Given the description of an element on the screen output the (x, y) to click on. 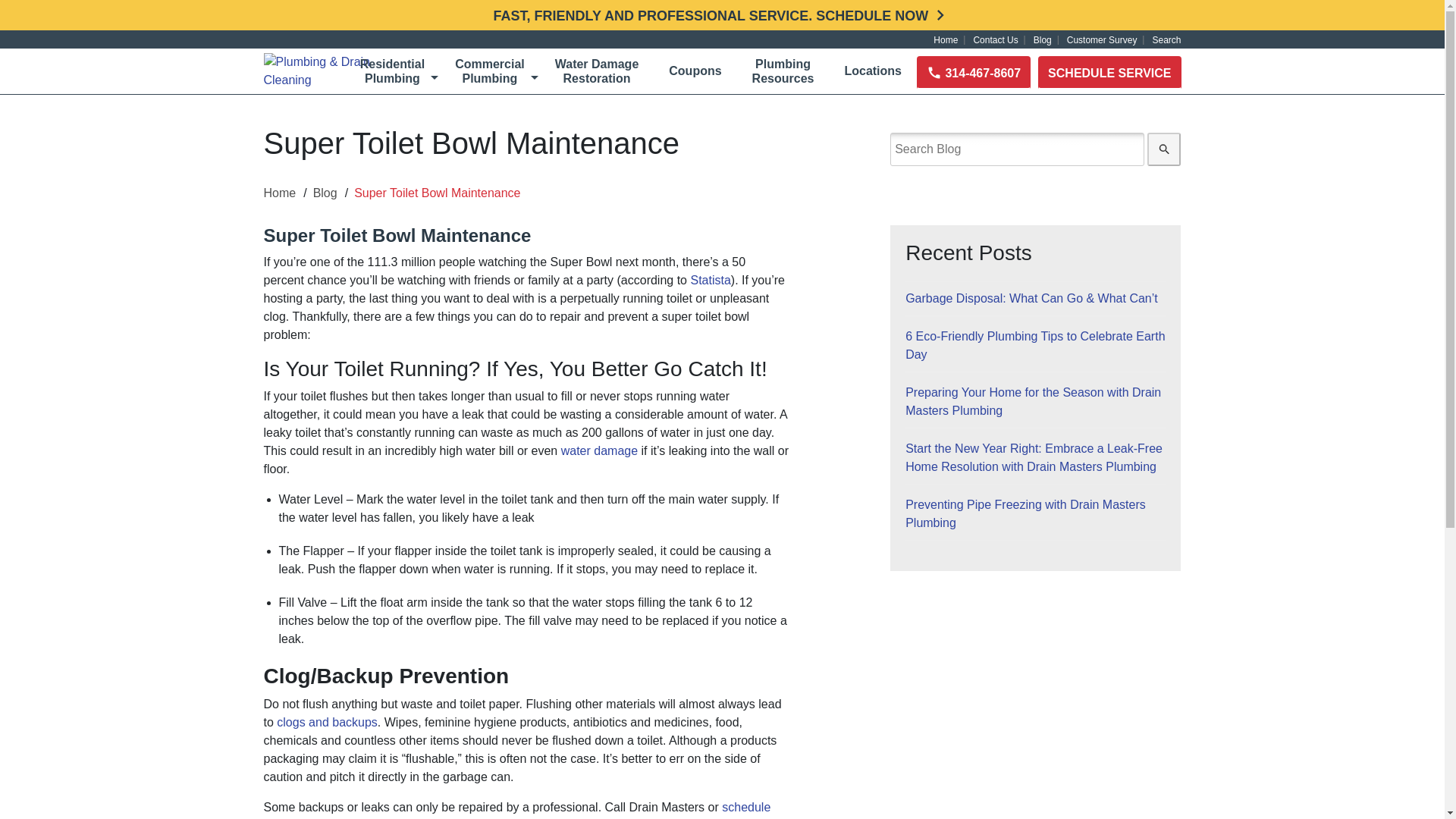
Home (945, 40)
Customer Survey (589, 71)
Coupons (482, 71)
Blog (1101, 40)
314-467-8607 (384, 71)
Search (687, 71)
Locations (1042, 40)
SCHEDULE SERVICE (973, 72)
Contact Us (1162, 40)
